Given the description of an element on the screen output the (x, y) to click on. 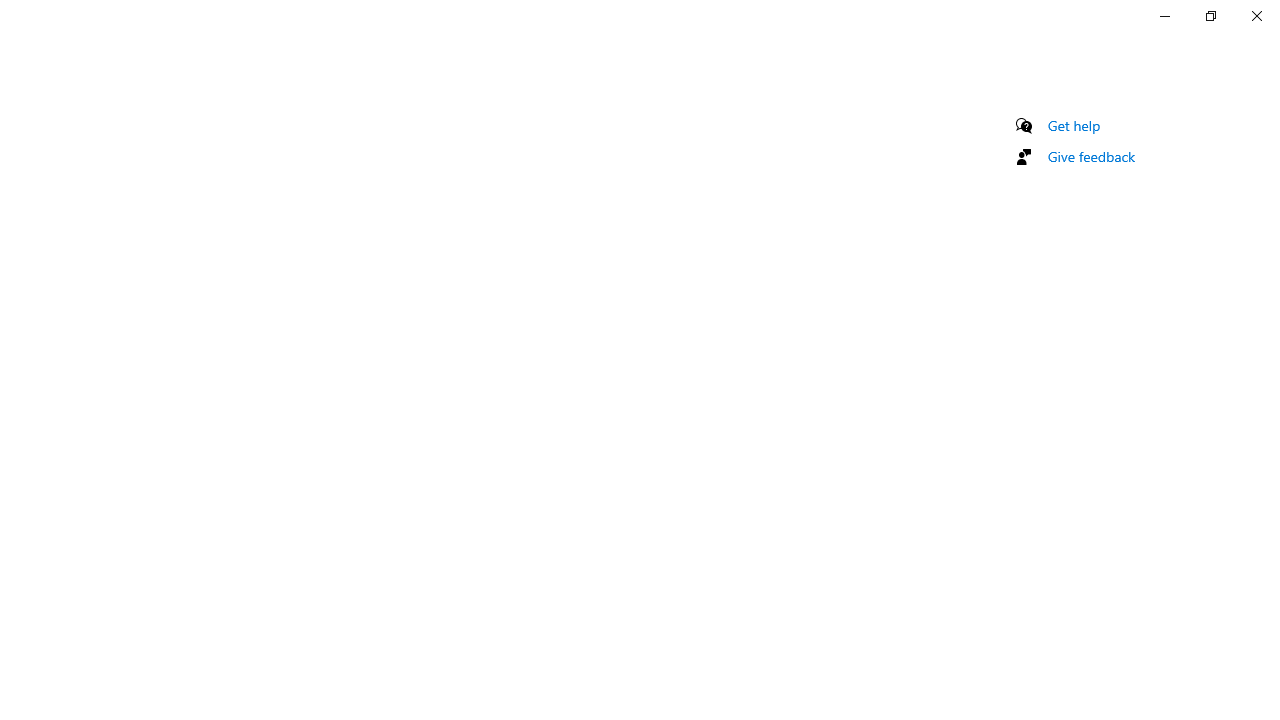
Give feedback (1091, 156)
